Given the description of an element on the screen output the (x, y) to click on. 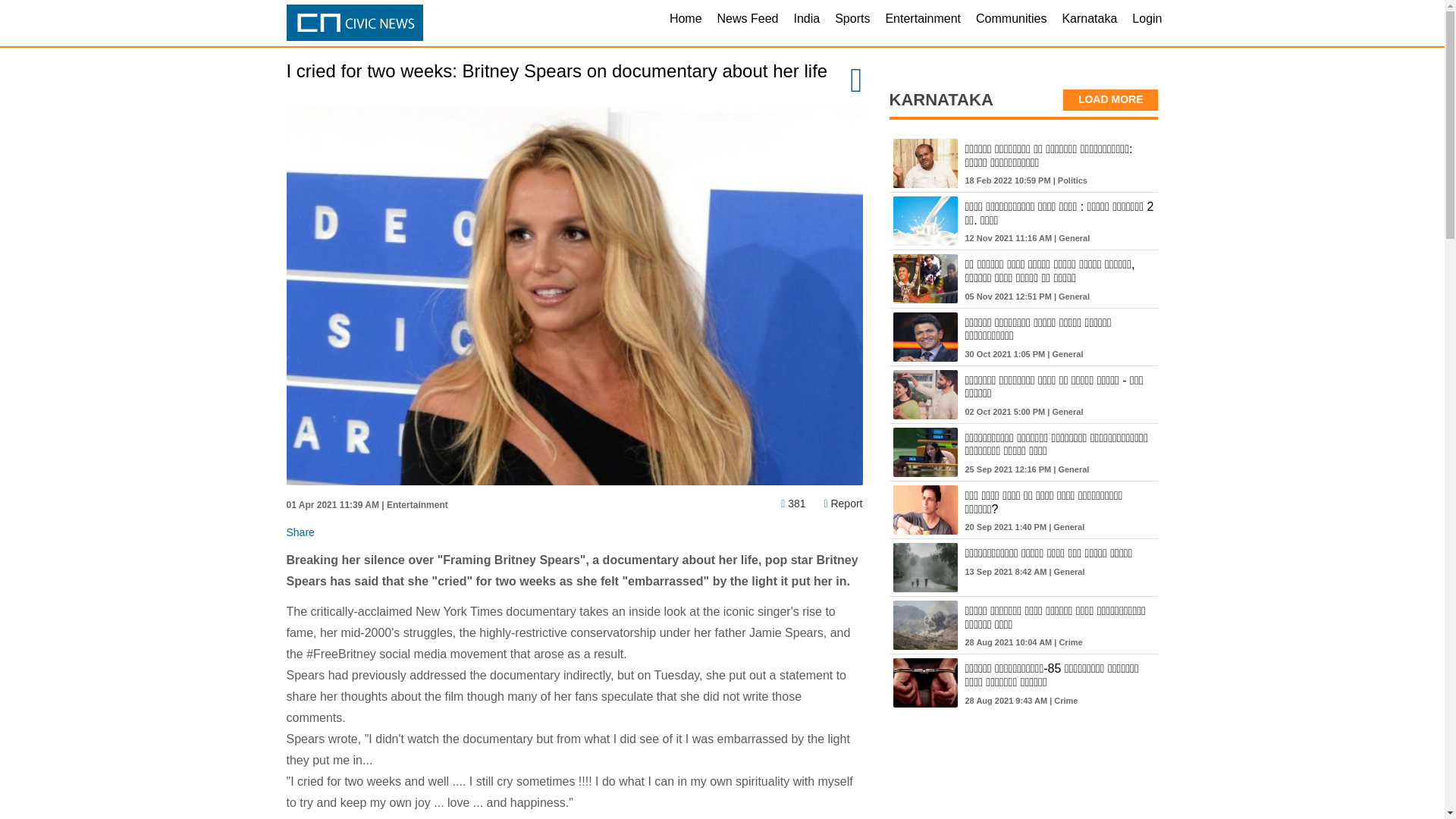
Communities (1011, 22)
LOAD MORE (1110, 99)
Sports (852, 22)
Login (1146, 22)
India (806, 22)
Karnataka (1089, 22)
Entertainment (922, 22)
Share (300, 532)
Home (686, 22)
News Feed (748, 22)
